Given the description of an element on the screen output the (x, y) to click on. 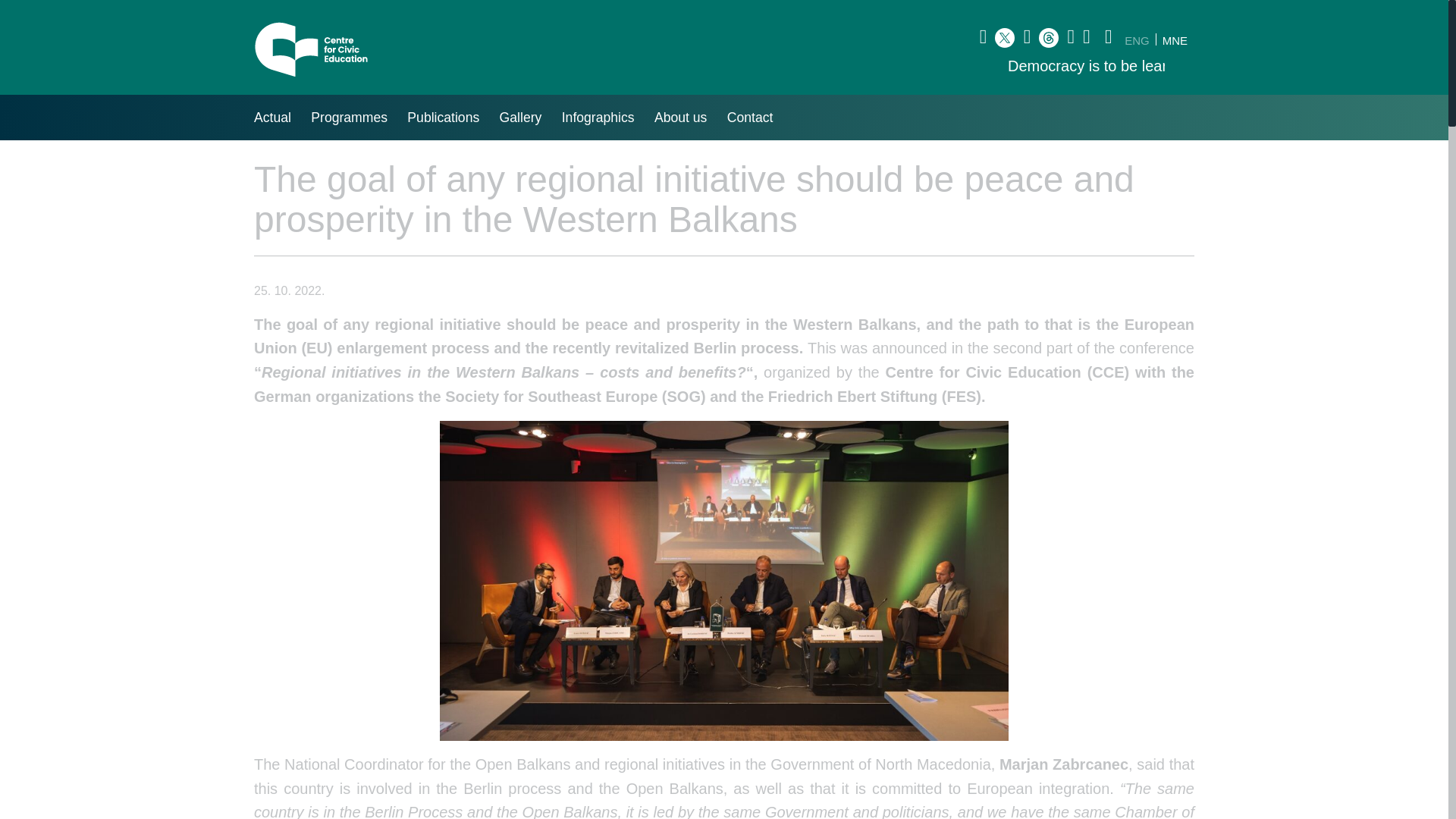
Publications (443, 117)
Actual (272, 117)
MNE (1174, 39)
Gallery (520, 117)
About us (681, 117)
Infographics (598, 117)
Contact (750, 117)
ENG (1137, 39)
Programmes (349, 117)
